Given the description of an element on the screen output the (x, y) to click on. 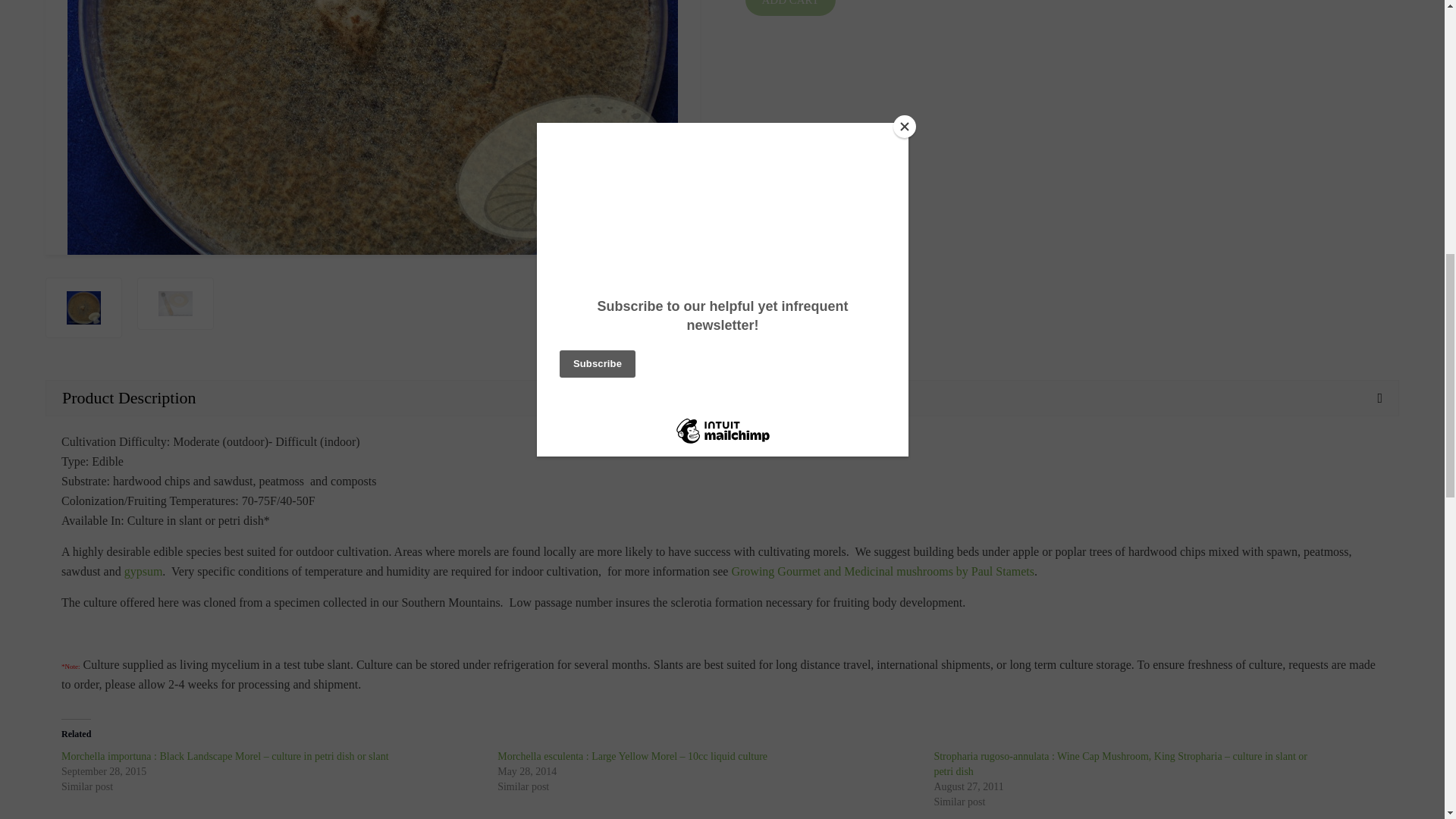
ADD CART (789, 7)
gypsum (143, 571)
Growing Gourmet and Medicinal mushrooms by Paul Stamets (881, 571)
